Given the description of an element on the screen output the (x, y) to click on. 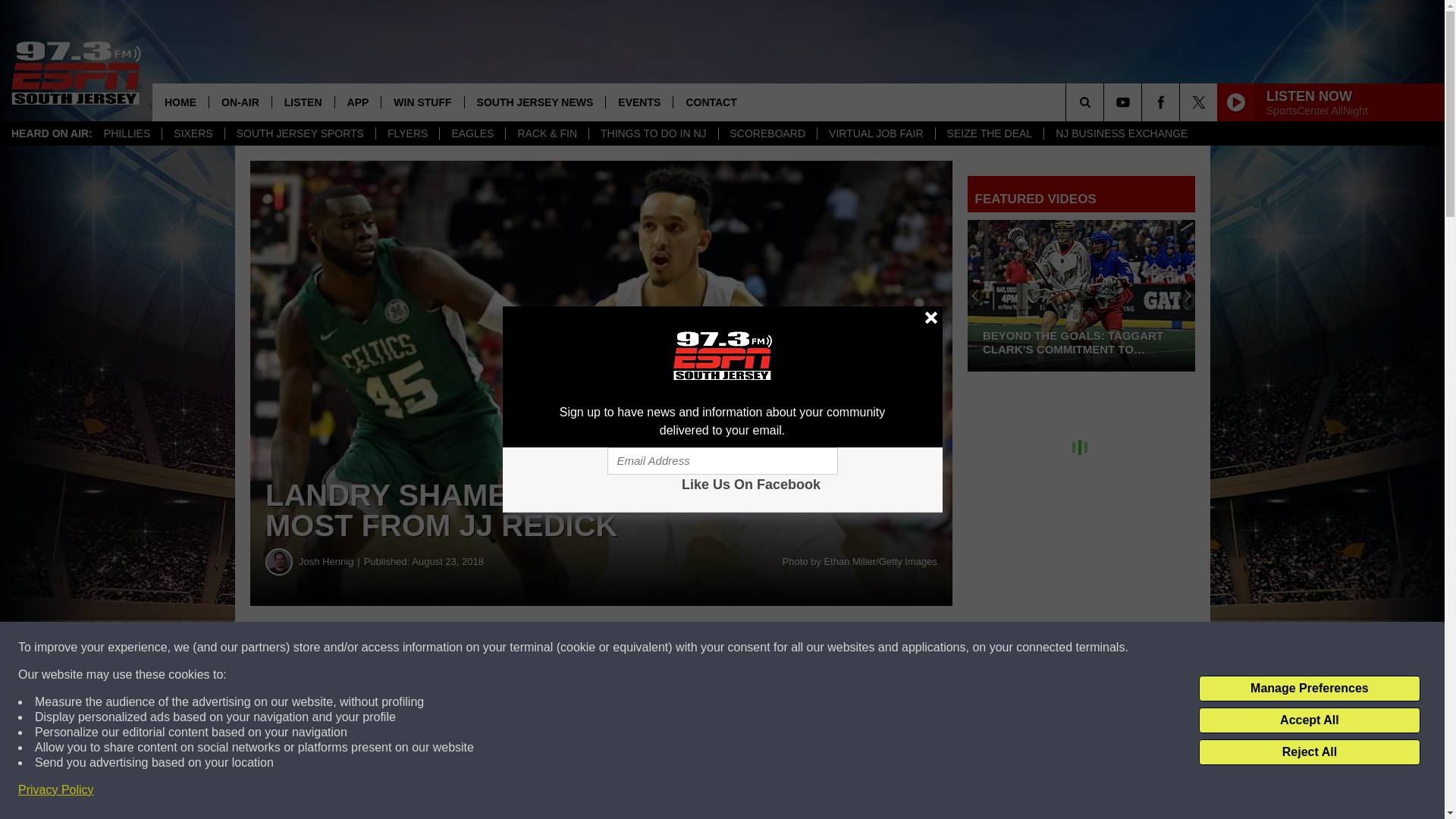
HOME (180, 102)
VIRTUAL JOB FAIR (875, 133)
SEARCH (1106, 102)
LISTEN (302, 102)
EAGLES (472, 133)
SOUTH JERSEY SPORTS (299, 133)
Accept All (1309, 720)
Share on Twitter (741, 647)
Reject All (1309, 751)
Email Address (722, 461)
SEIZE THE DEAL (988, 133)
SCOREBOARD (766, 133)
APP (357, 102)
NJ BUSINESS EXCHANGE (1120, 133)
SIXERS (192, 133)
